Given the description of an element on the screen output the (x, y) to click on. 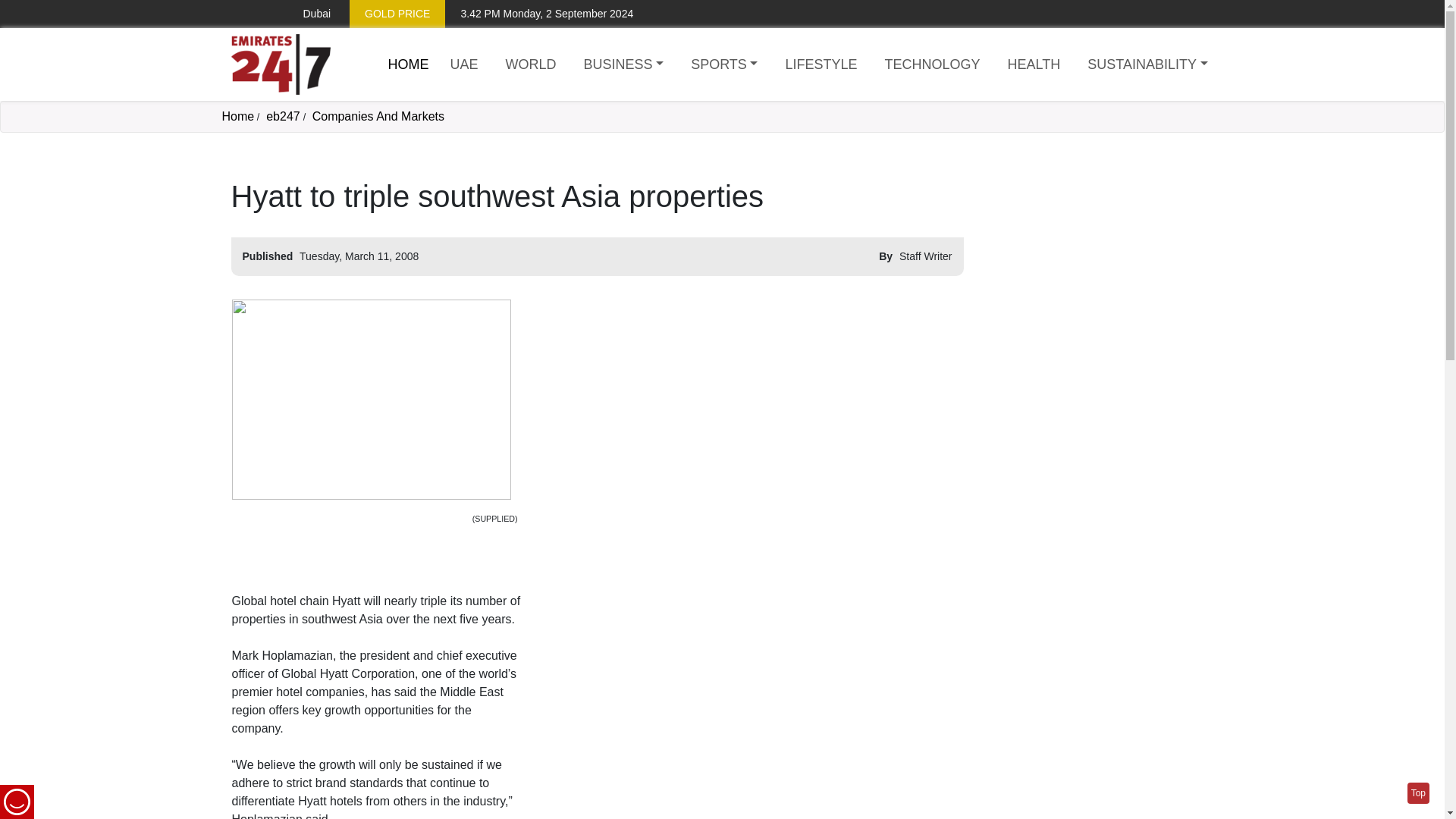
WORLD (530, 64)
eb247 (282, 115)
Companies And Markets (378, 115)
HOME (408, 63)
HEALTH (1034, 64)
Home (237, 115)
Home (280, 64)
Go to top (1418, 792)
SUSTAINABILITY (1146, 64)
Home (408, 63)
